Given the description of an element on the screen output the (x, y) to click on. 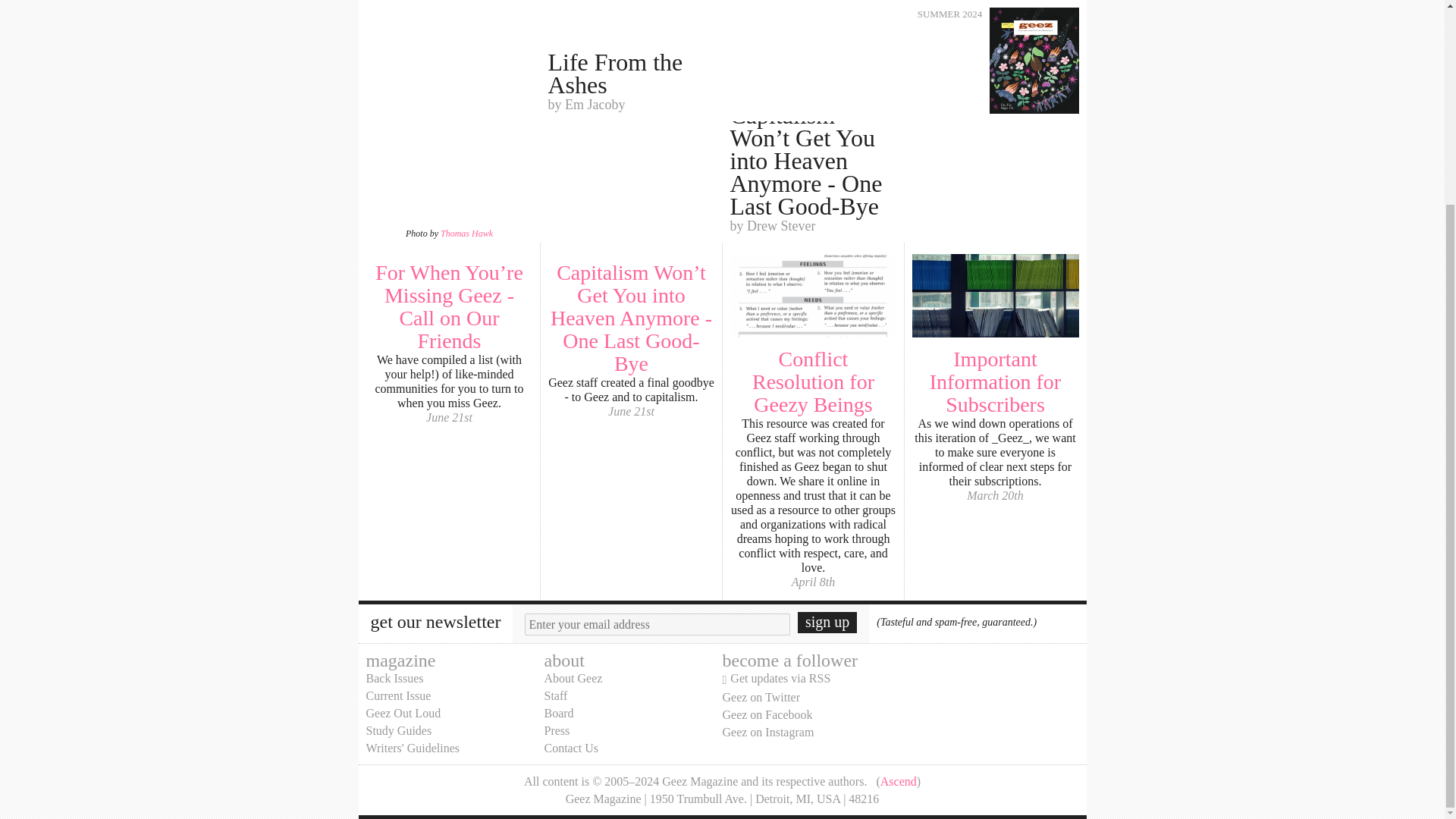
Press (557, 730)
About Geez (573, 677)
Thomas Hawk (467, 233)
Contact Us (571, 748)
Study Guides (397, 730)
Staff (555, 695)
sign up (827, 622)
Current Issue (397, 695)
Geez Out Loud (403, 712)
Writers' Guidelines (412, 748)
